Given the description of an element on the screen output the (x, y) to click on. 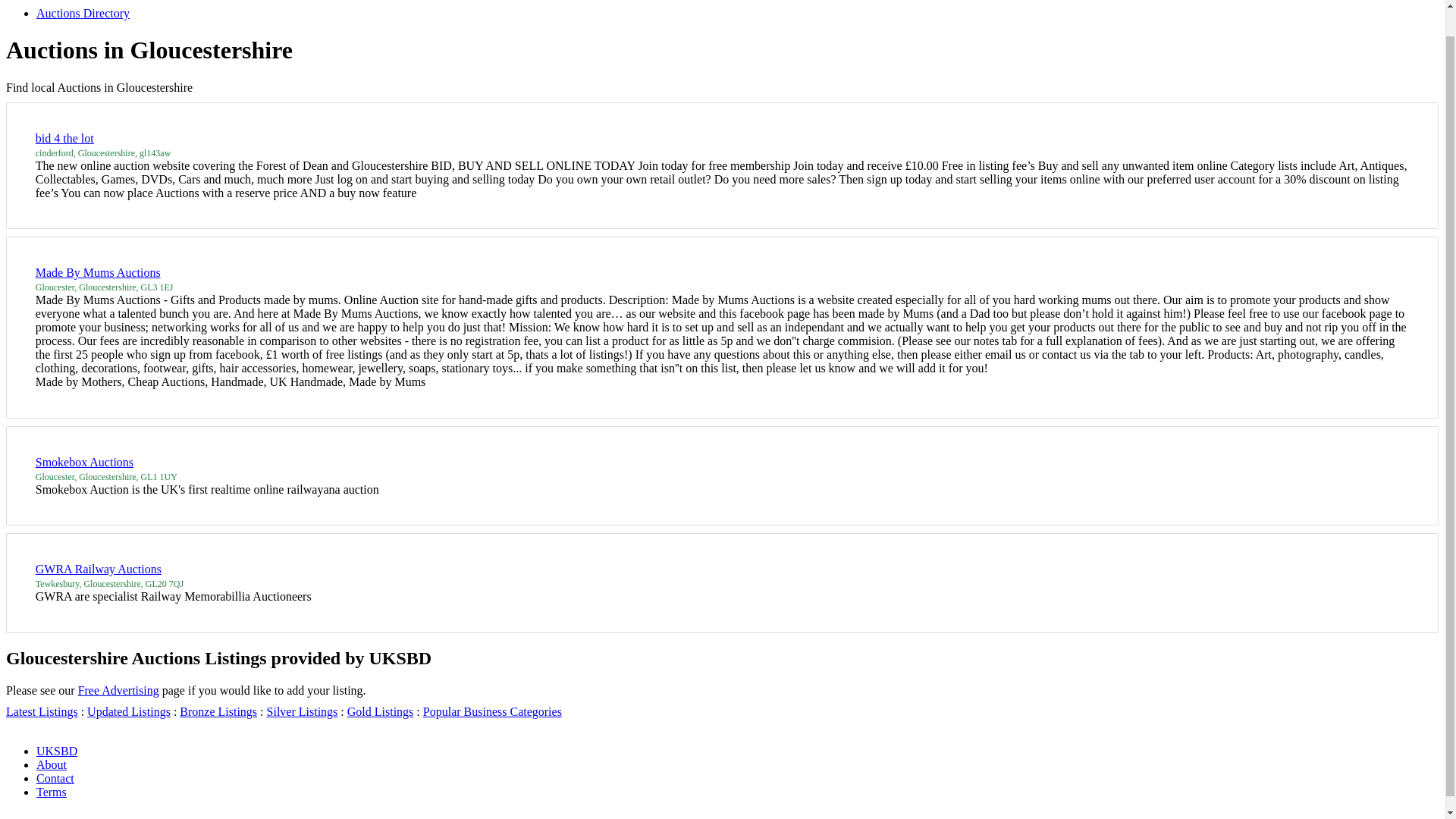
Made By Mums Auctions (97, 272)
Gold Listings (380, 711)
Auctions Directory (82, 12)
Silver Listings (301, 711)
bid 4 the lot (64, 137)
Free Advertising (118, 689)
Smokebox Auctions (83, 461)
Terms (51, 791)
Latest Listings (41, 711)
Bronze Listings (218, 711)
